Given the description of an element on the screen output the (x, y) to click on. 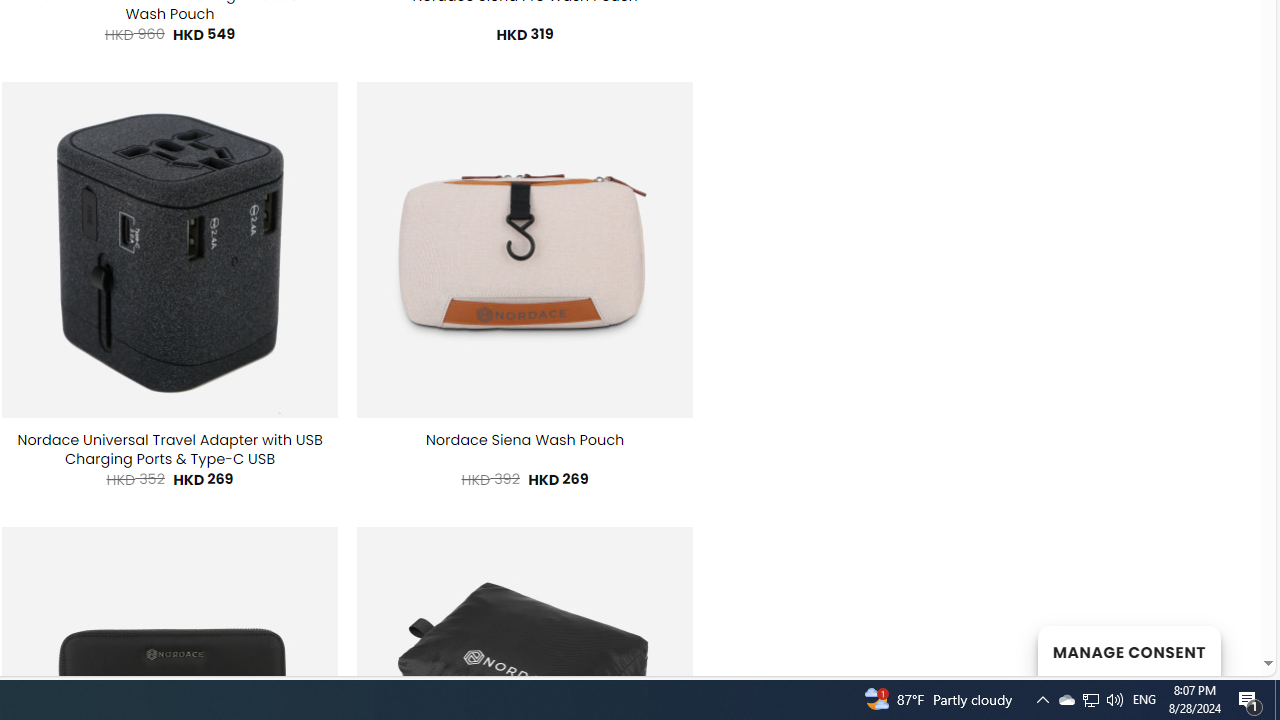
MANAGE CONSENT (1128, 650)
Nordace Siena Wash Pouch (524, 440)
